Given the description of an element on the screen output the (x, y) to click on. 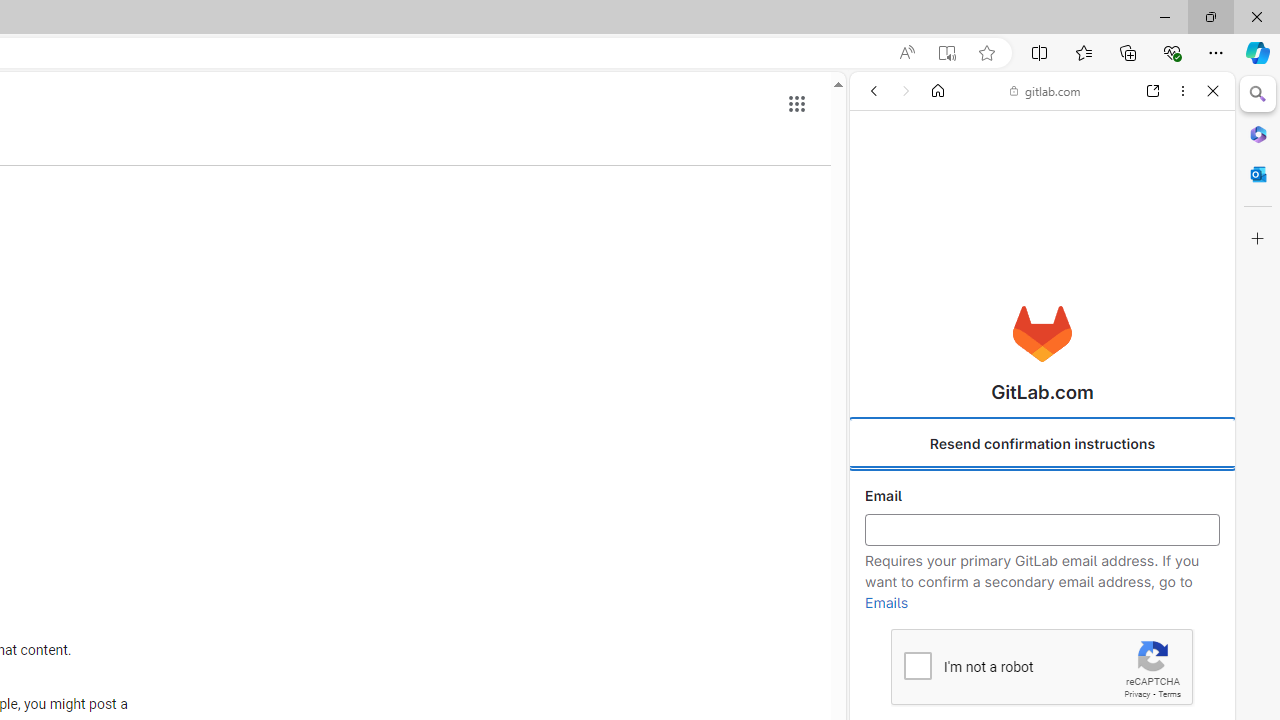
gitlab.com (1045, 90)
Confirmation Page (1042, 690)
About GitLab (1042, 592)
